Given the description of an element on the screen output the (x, y) to click on. 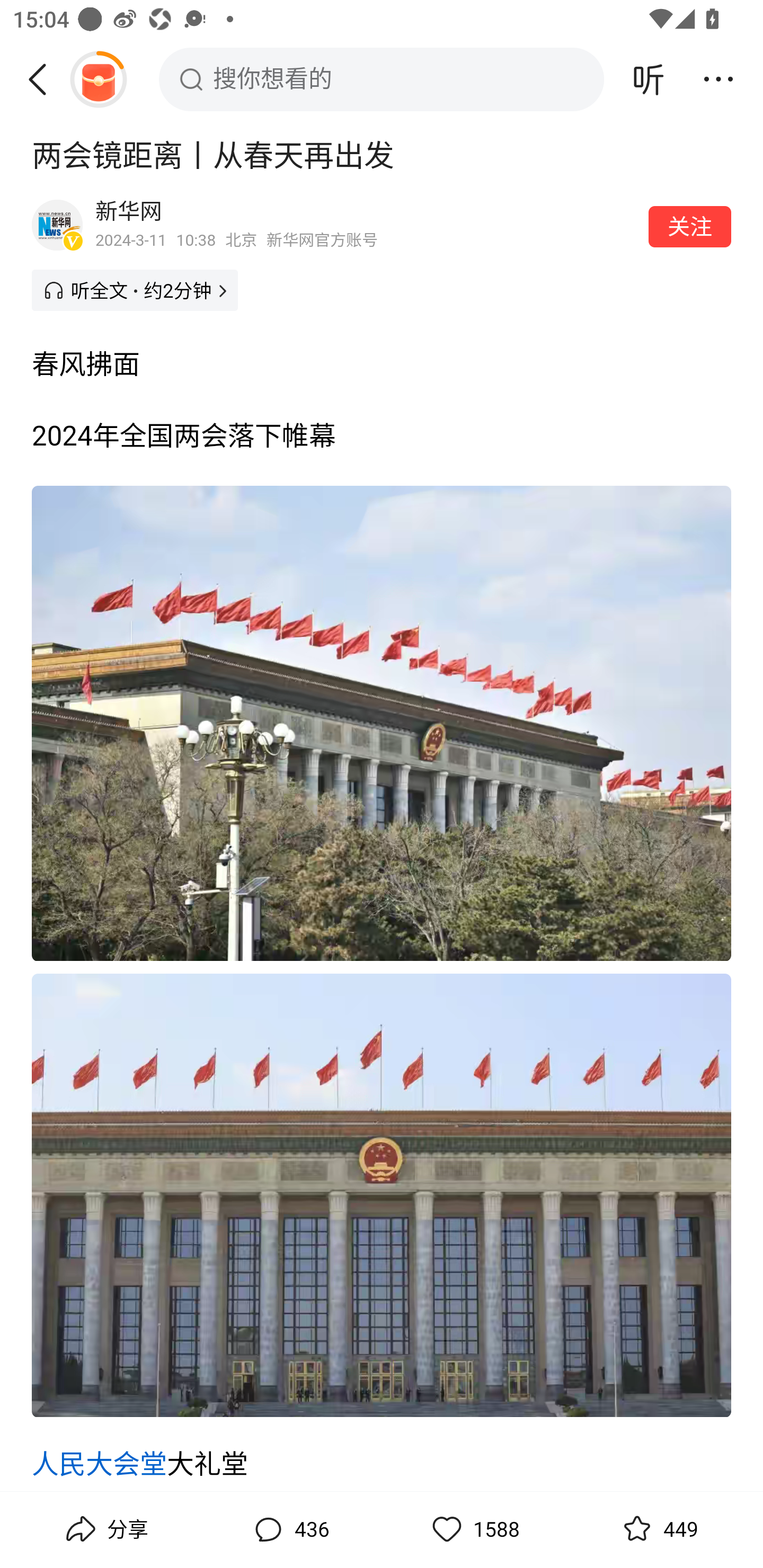
返回 (44, 78)
听头条 (648, 78)
更多操作 (718, 78)
搜你想看的 搜索框，搜你想看的 (381, 79)
阅读赚金币 (98, 79)
作者：新华网，简介：新华网官方账号，2024-3-11 10:38发布，北京 (365, 224)
关注作者 (689, 226)
听全文 约2分钟 (135, 290)
图片，点击识别内容 (381, 722)
图片，点击识别内容 (381, 1194)
人民大会堂 (100, 1464)
分享 (104, 1529)
评论,436 436 (288, 1529)
收藏,449 449 (658, 1529)
